Given the description of an element on the screen output the (x, y) to click on. 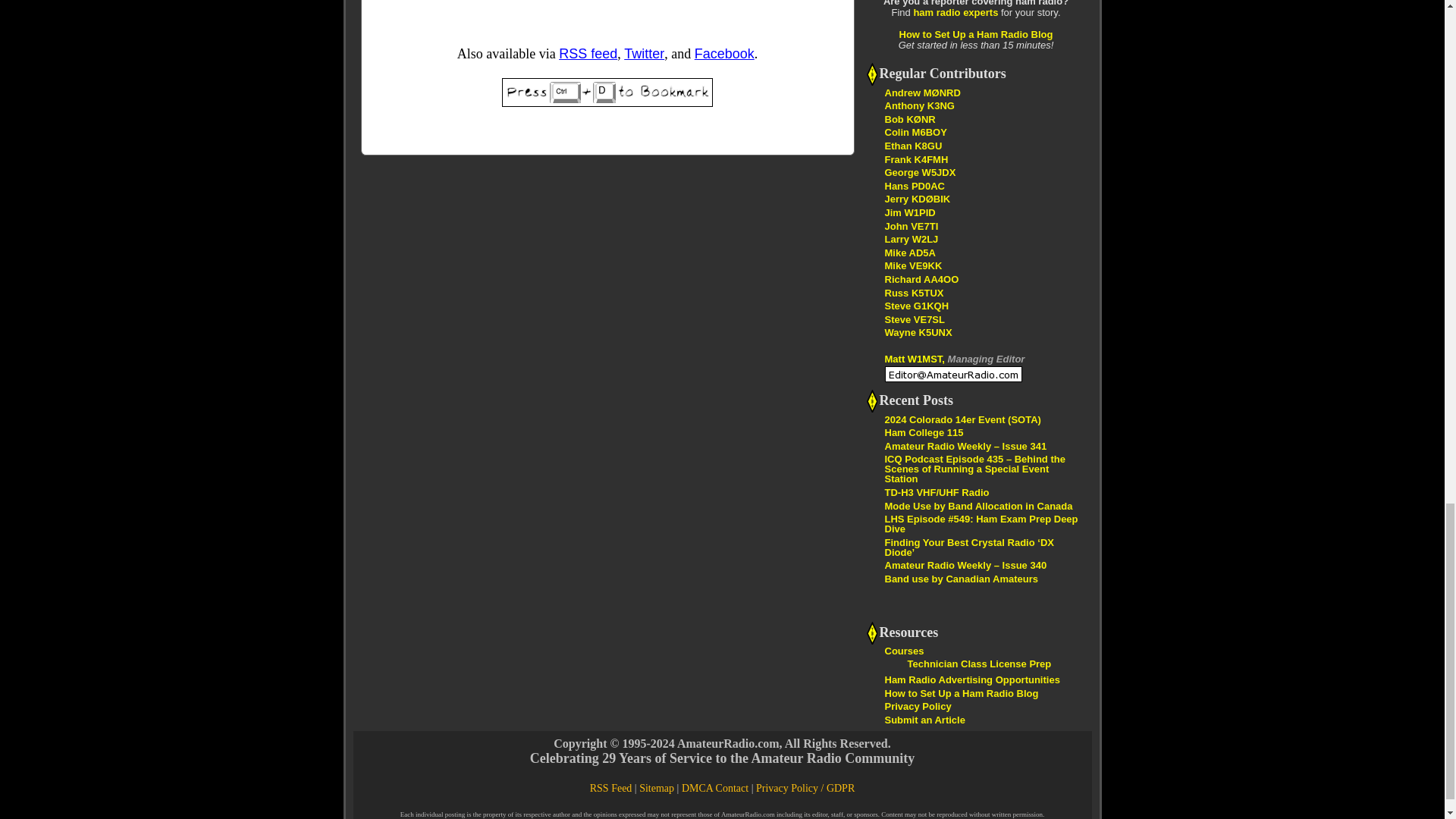
Lower your Power  Raise your Expectations (920, 279)
Linux in the Ham Shack Podcast in MP3 Format (913, 292)
Homebrewing and Operating Adventures From 2200m To Nanowaves (913, 319)
Facebook (724, 53)
RSS feed (588, 53)
Twitter (643, 53)
Entertain, Encourage, Educate and Inspire (916, 198)
Thoughts of a Dutch radio amateur (913, 185)
MY HAM RADIO EXPERIENCES (908, 252)
